Given the description of an element on the screen output the (x, y) to click on. 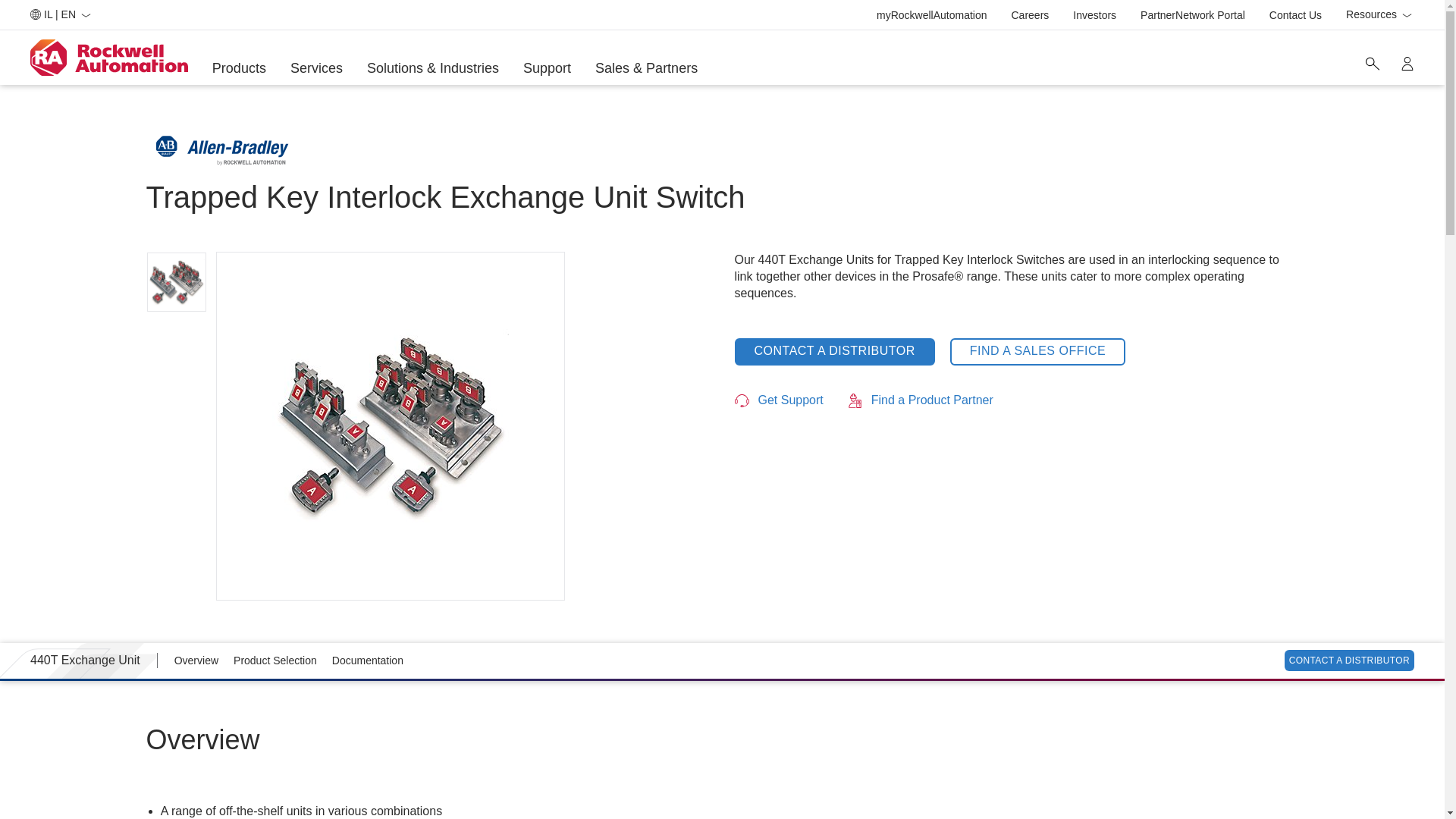
PartnerNetwork Portal (1192, 15)
Chevron DownChevron Down (85, 15)
SearchSearch (1379, 15)
UserUser (1371, 63)
Careers (1406, 63)
Products (1030, 15)
Contact Us (239, 68)
Chevron DownChevron Down (1295, 15)
